Given the description of an element on the screen output the (x, y) to click on. 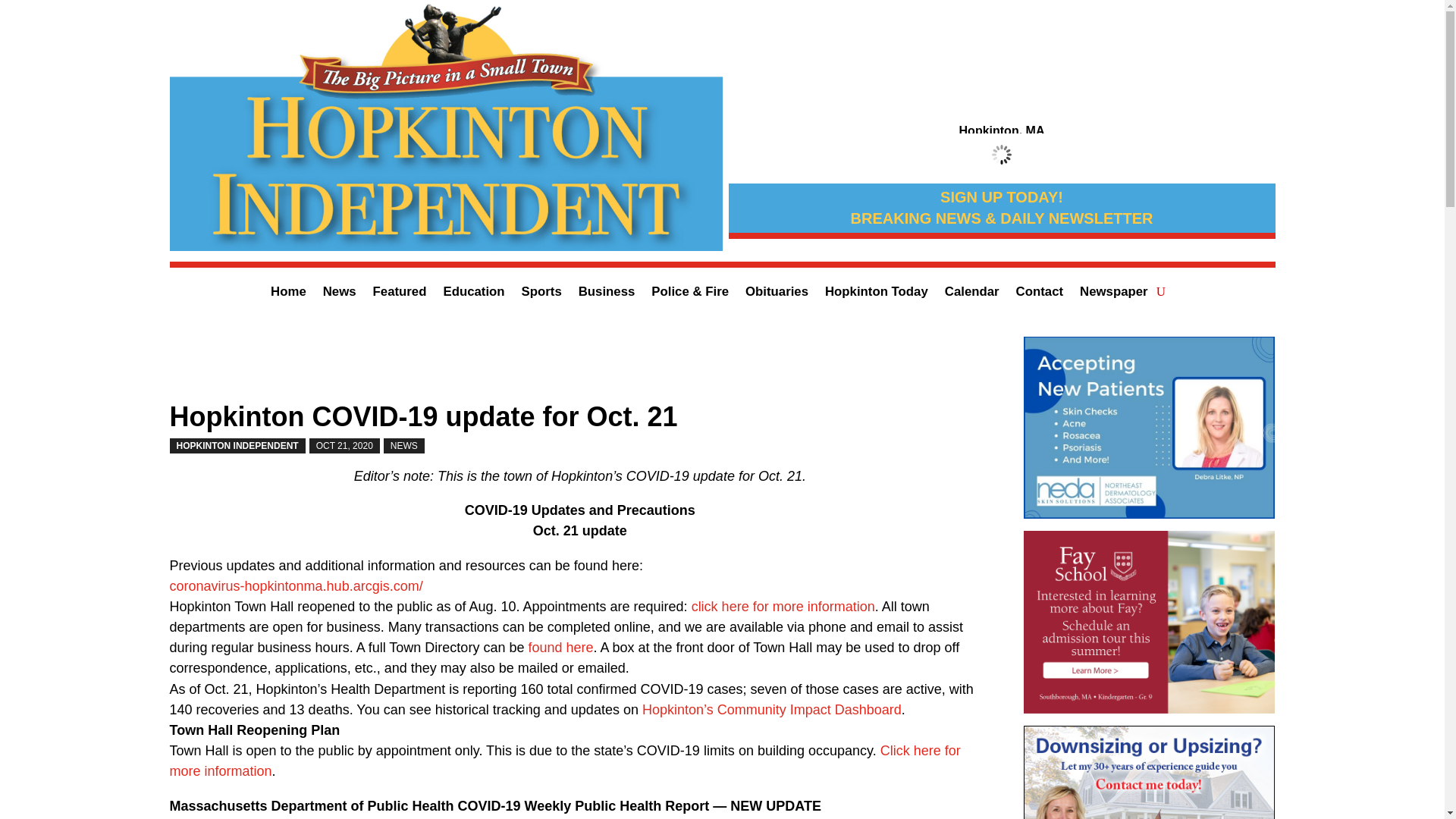
Education (472, 294)
Contact (1039, 294)
Featured (399, 294)
Calendar (971, 294)
Posts by Hopkinton Independent (237, 445)
NEWS (404, 445)
Sports (541, 294)
HOPKINTON INDEPENDENT (237, 445)
Home (287, 294)
News (339, 294)
Obituaries (776, 294)
Business (606, 294)
Newspaper (1114, 294)
